Given the description of an element on the screen output the (x, y) to click on. 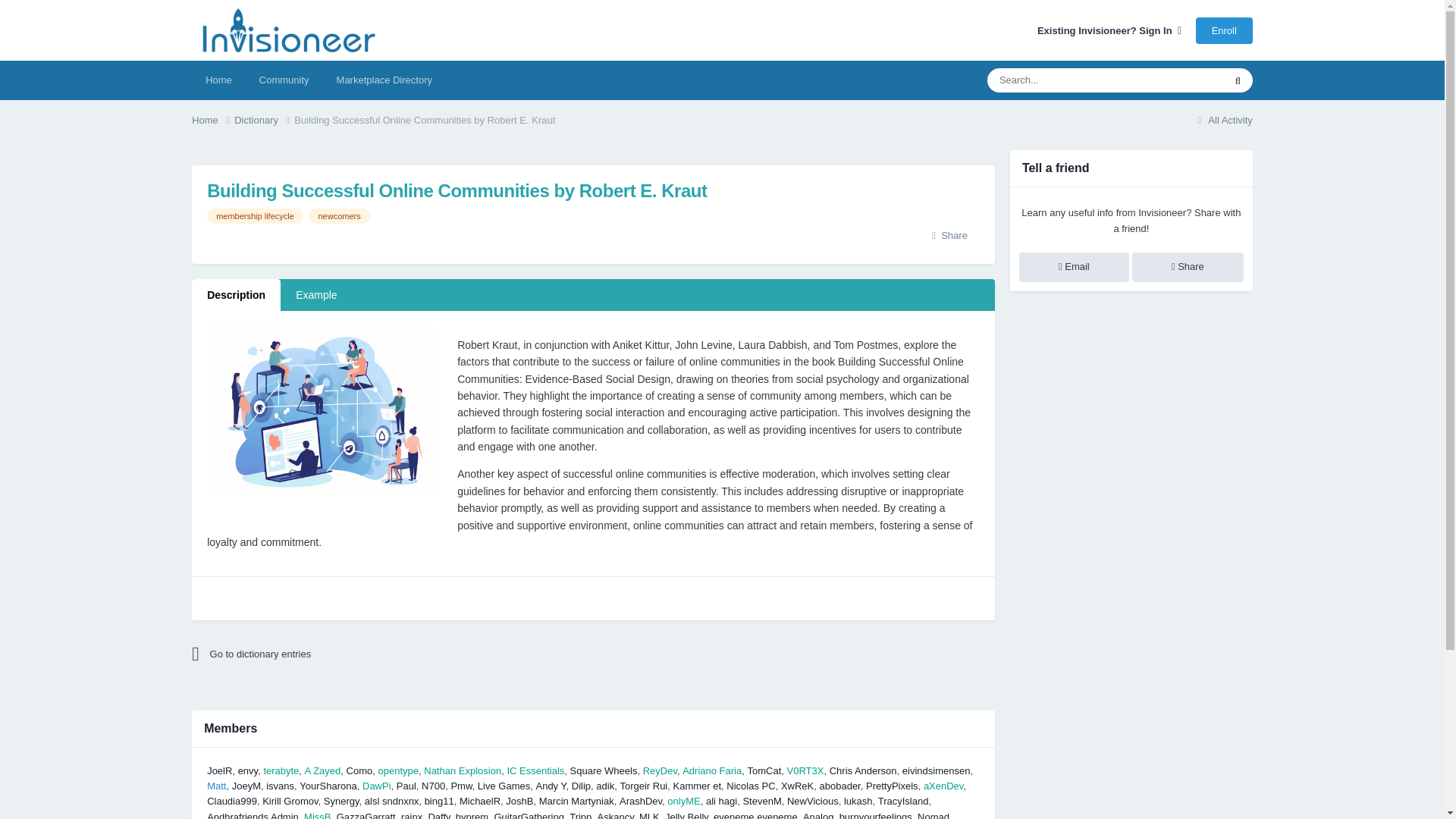
Enroll (1223, 29)
Existing Invisioneer? Sign In   (1108, 30)
Find other content tagged with 'newcomers' (338, 215)
Example (316, 295)
Description (236, 295)
Go to opentype's profile (398, 770)
Home (219, 79)
Find other content tagged with 'membership lifecycle' (254, 215)
Go to A Zayed's profile (322, 770)
Go to envy's profile (248, 770)
